Given the description of an element on the screen output the (x, y) to click on. 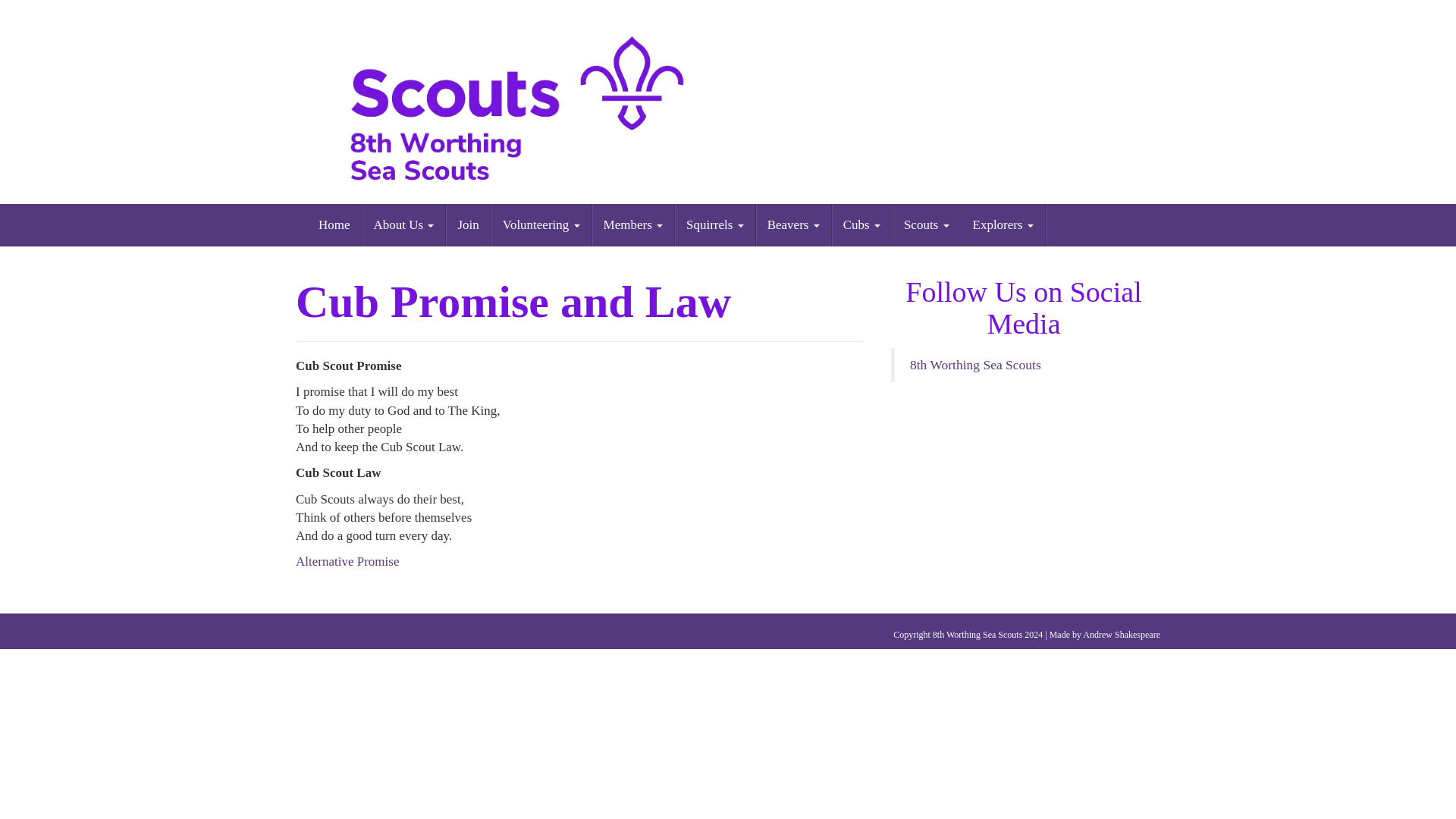
Cubs (861, 224)
Members (633, 224)
Home (334, 224)
About Us (404, 224)
Explorers (1002, 224)
Home (334, 224)
Join (467, 224)
Volunteering (542, 224)
Join (467, 224)
Volunteering (542, 224)
